Given the description of an element on the screen output the (x, y) to click on. 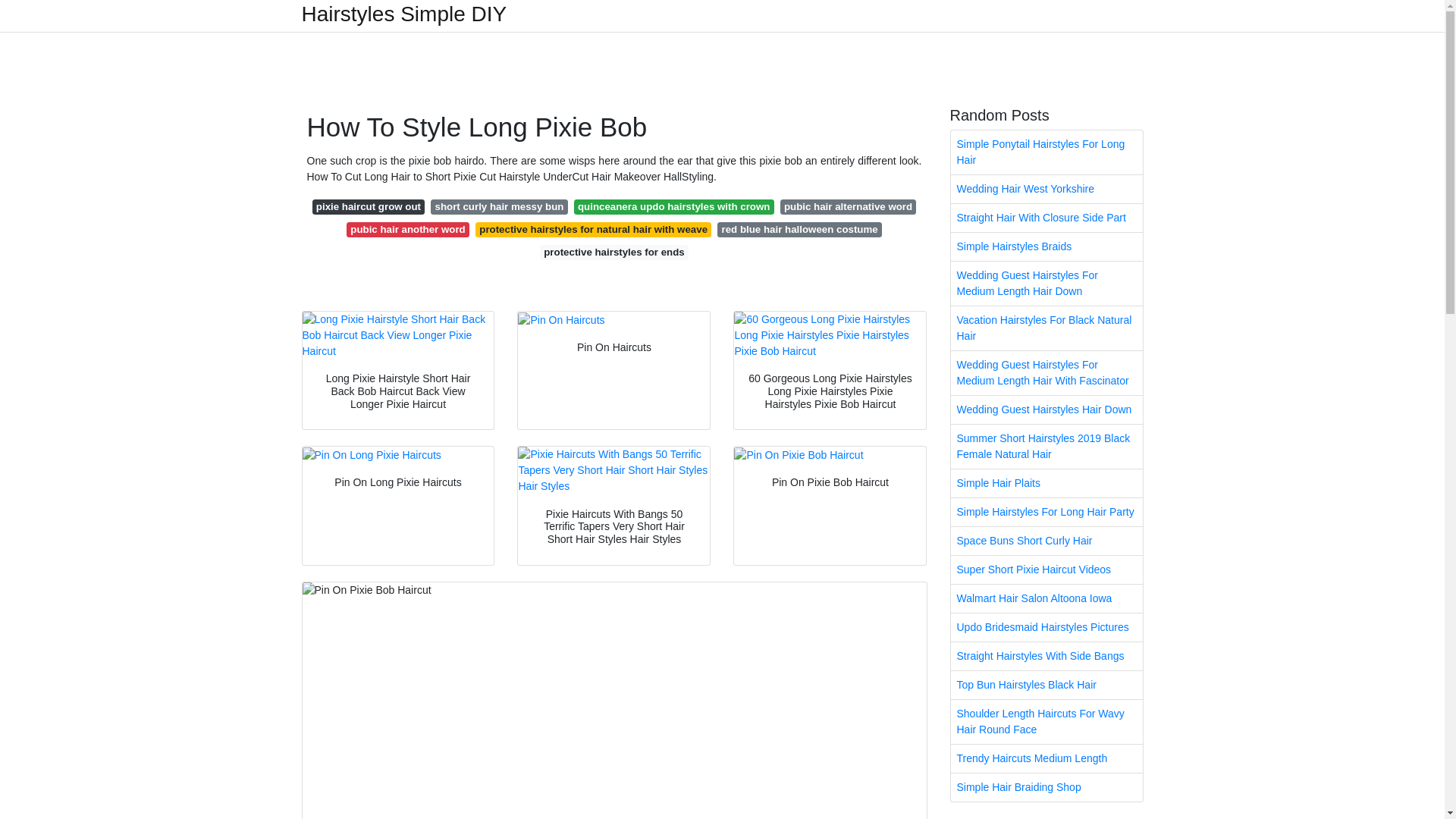
pixie haircut grow out (369, 206)
red blue hair halloween costume (799, 229)
Simple Hair Plaits (1046, 483)
Hairstyles Simple DIY (403, 13)
quinceanera updo hairstyles with crown (673, 206)
Wedding Guest Hairstyles For Medium Length Hair Down (1046, 283)
pubic hair another word (407, 229)
Summer Short Hairstyles 2019 Black Female Natural Hair (1046, 446)
Simple Hairstyles Braids (1046, 246)
Simple Ponytail Hairstyles For Long Hair (1046, 152)
protective hairstyles for ends (614, 252)
short curly hair messy bun (498, 206)
Wedding Hair West Yorkshire (1046, 189)
protective hairstyles for natural hair with weave (593, 229)
